Given the description of an element on the screen output the (x, y) to click on. 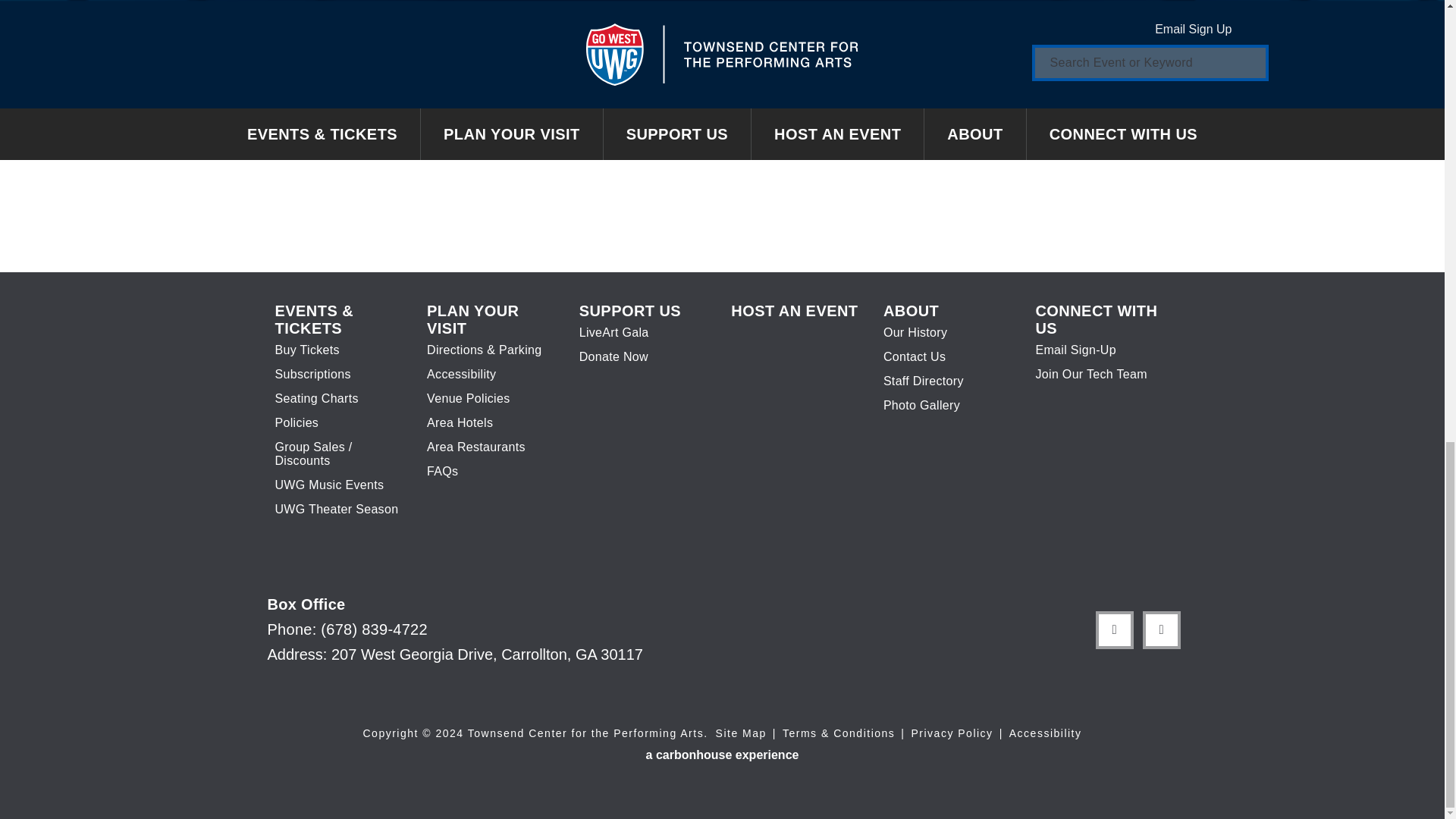
Facebook (1113, 630)
a carbonhouse experience (722, 755)
Instagram (1160, 630)
